Given the description of an element on the screen output the (x, y) to click on. 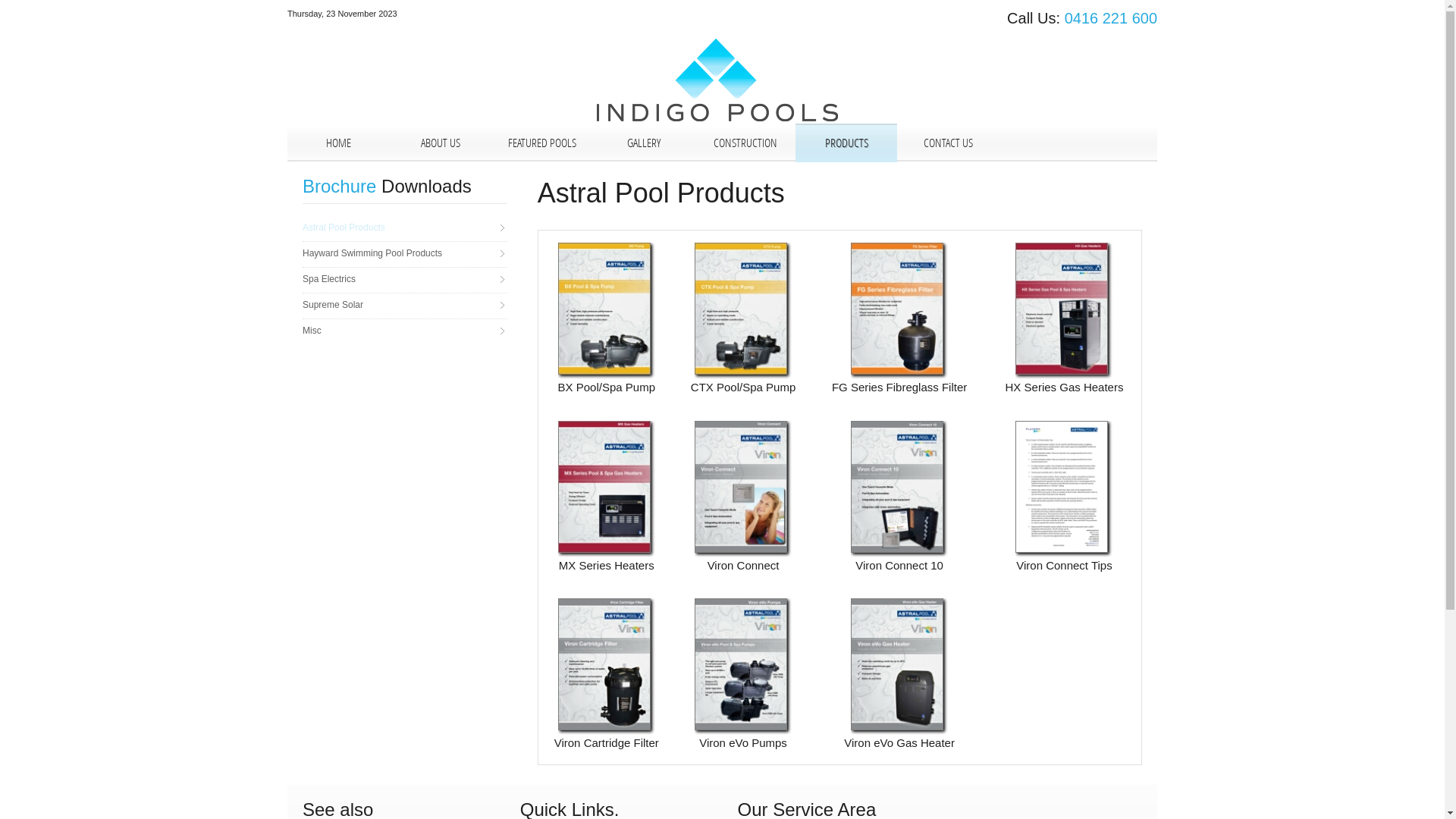
BX Pool/Spa Pump Element type: text (606, 348)
FG Series Fibreglass Filter Element type: text (898, 348)
Viron Connect Tips Element type: text (1063, 525)
CONTACT US Element type: text (947, 141)
Viron eVo Gas Heater Element type: text (899, 703)
Viron Cartridge Filter Element type: text (606, 703)
Viron Connect Element type: text (742, 525)
Hayward Swimming Pool Products Element type: text (404, 252)
FEATURED POOLS Element type: text (541, 141)
MX Series Heaters Element type: text (606, 525)
Spa Electrics Element type: text (404, 278)
Supreme Solar Element type: text (404, 304)
GALLERY Element type: text (642, 141)
Viron eVo Pumps Element type: text (742, 703)
CTX Pool/Spa Pump Element type: text (742, 348)
PRODUCTS Element type: text (846, 141)
ABOUT US Element type: text (439, 141)
HOME Element type: text (338, 141)
Misc Element type: text (404, 330)
Astral Pool Products Element type: text (404, 227)
Viron Connect 10 Element type: text (898, 525)
HX Series Gas Heaters Element type: text (1064, 348)
CONSTRUCTION Element type: text (744, 141)
